Given the description of an element on the screen output the (x, y) to click on. 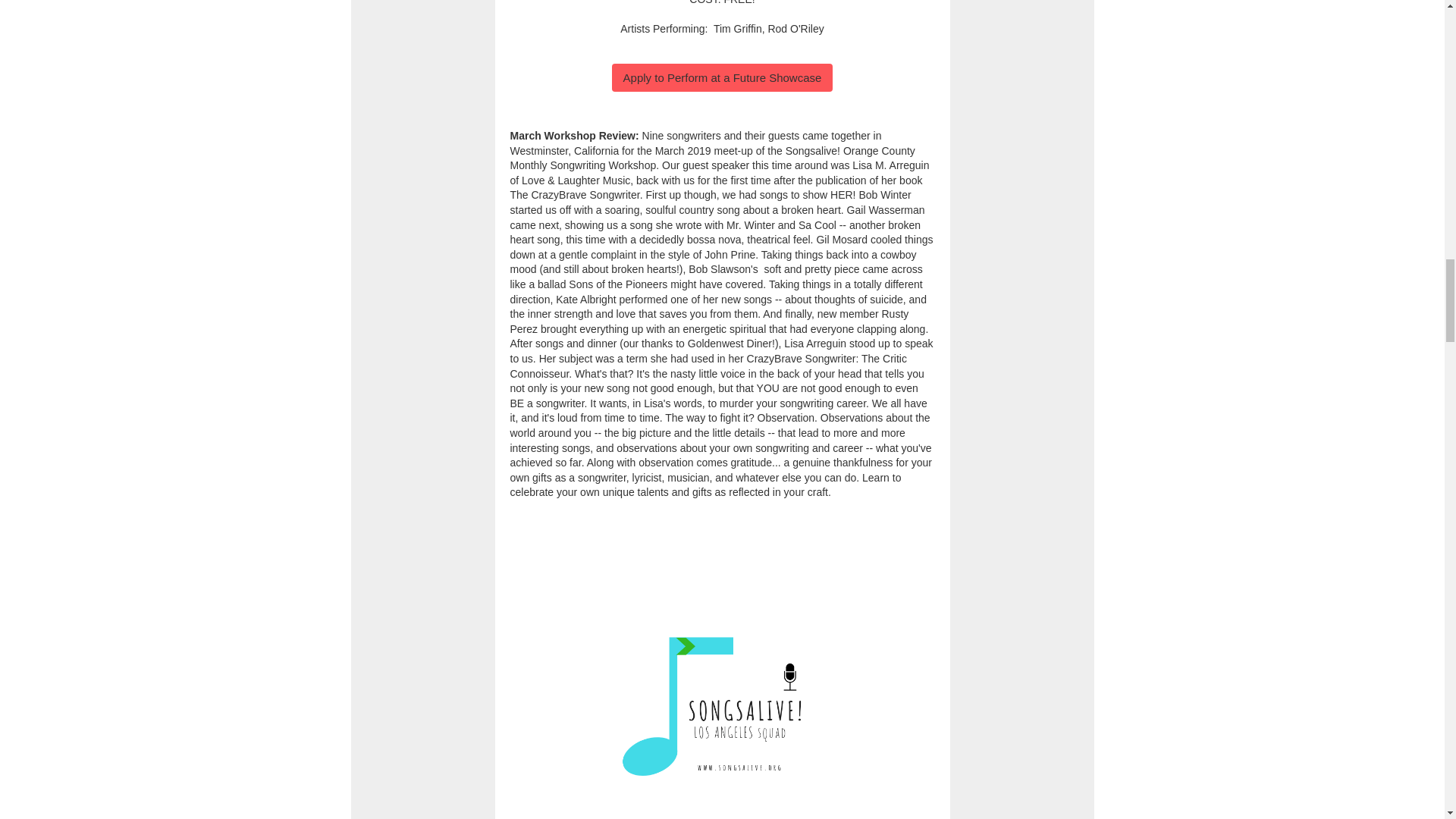
Apply to Perform at a Future Showcase (721, 77)
